Given the description of an element on the screen output the (x, y) to click on. 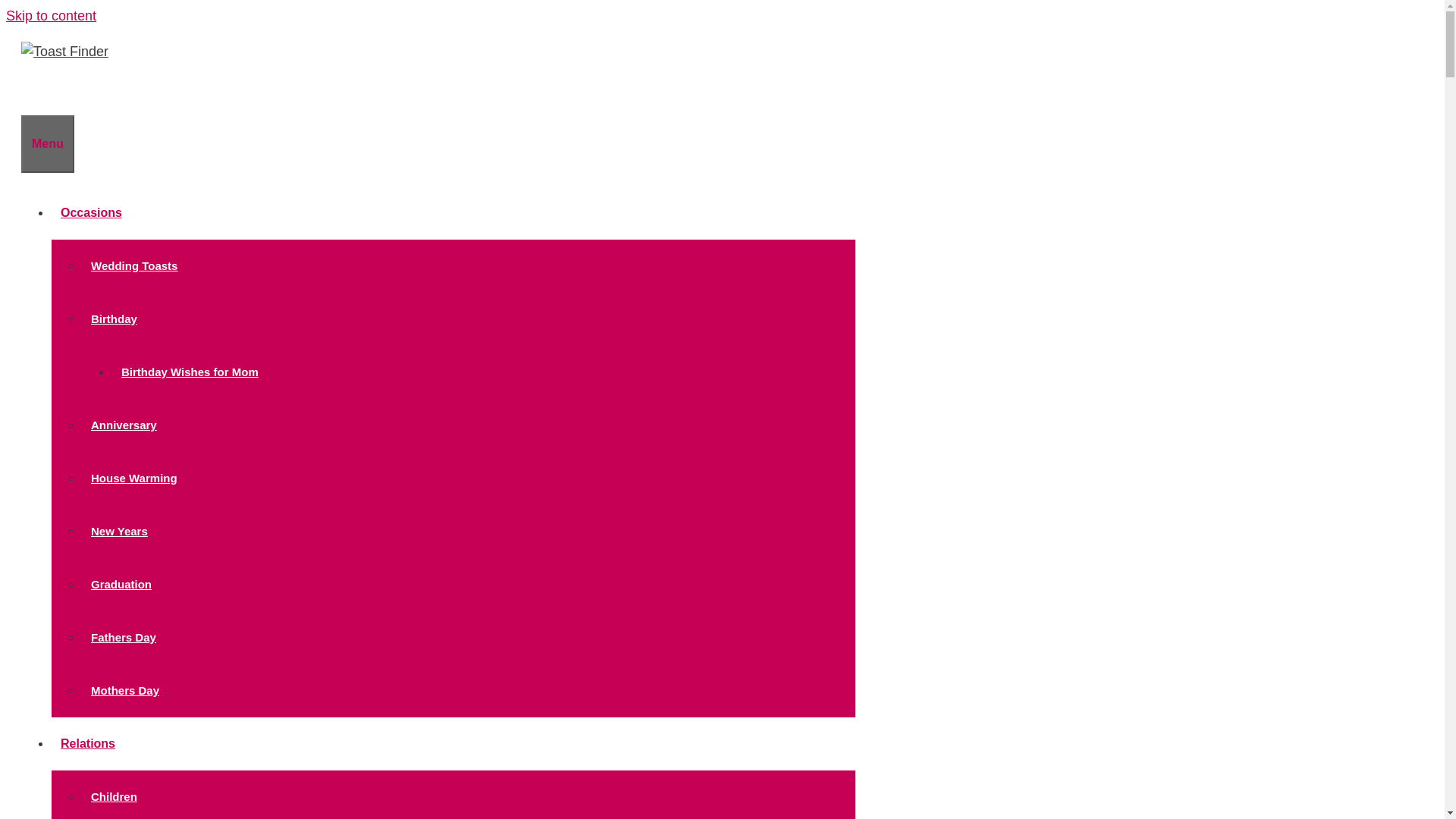
Children (114, 796)
Menu (47, 143)
Graduation (120, 583)
House Warming (133, 478)
Birthday (118, 318)
Fathers Day (123, 637)
New Years (119, 530)
Birthday Wishes for Mom (189, 371)
Wedding Toasts (133, 265)
Mothers Day (124, 690)
Relations (91, 743)
Anniversary (123, 425)
Skip to content (50, 15)
Occasions (94, 212)
Skip to content (50, 15)
